Given the description of an element on the screen output the (x, y) to click on. 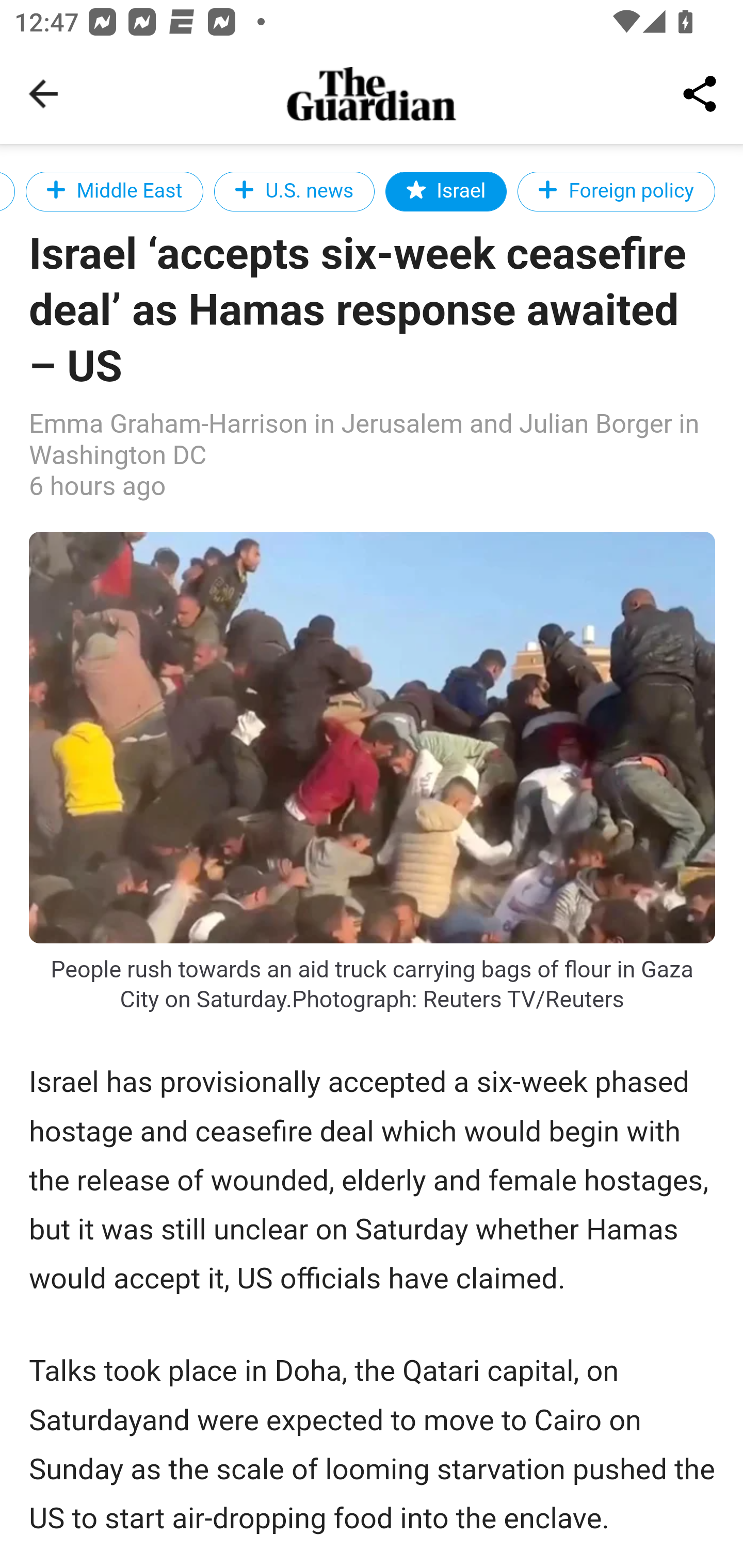
Middle East (114, 191)
U.S. news (294, 191)
Israel (445, 191)
Foreign policy (616, 191)
